Given the description of an element on the screen output the (x, y) to click on. 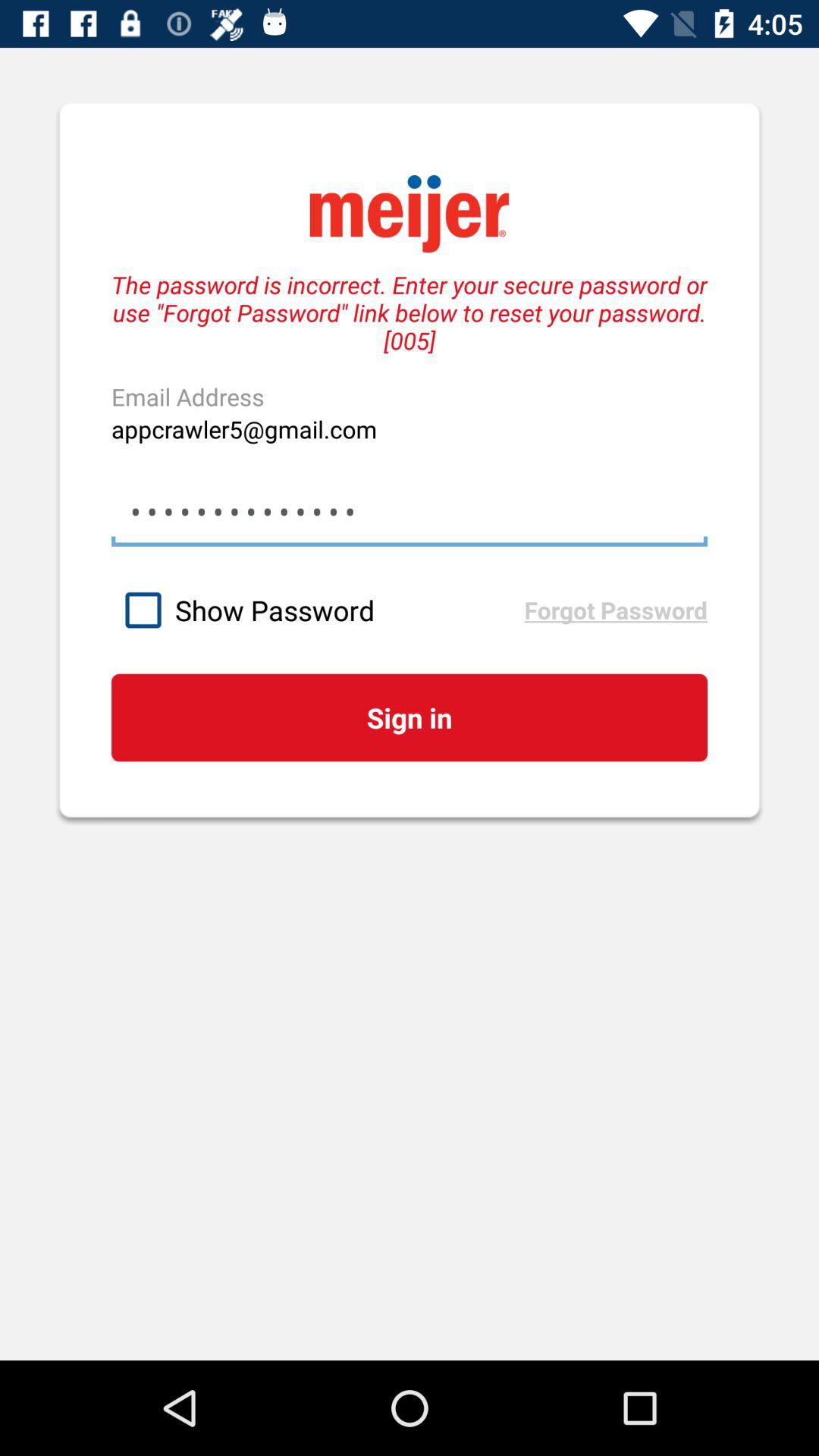
launch the icon next to the forgot password (317, 610)
